Given the description of an element on the screen output the (x, y) to click on. 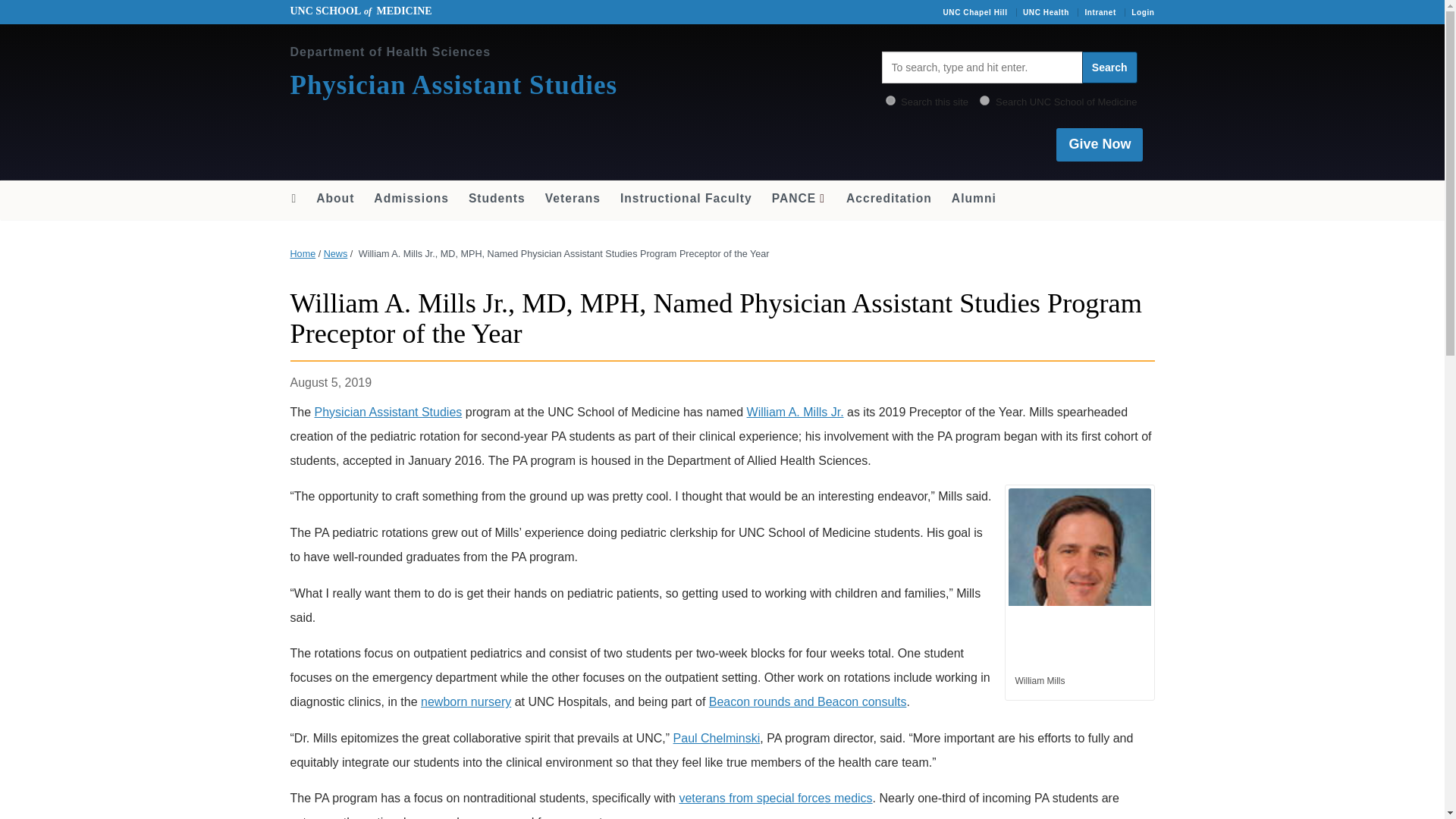
Alumni (974, 198)
Beacon rounds and Beacon consults (808, 701)
About (334, 198)
wp (890, 100)
News (335, 253)
Admissions (411, 198)
Students (496, 198)
Home (293, 198)
William A. Mills Jr. (795, 411)
Accreditation (888, 198)
gcs (984, 100)
Search (1109, 67)
Intranet (1099, 12)
UNC Health (1045, 12)
PANCE (798, 198)
